Given the description of an element on the screen output the (x, y) to click on. 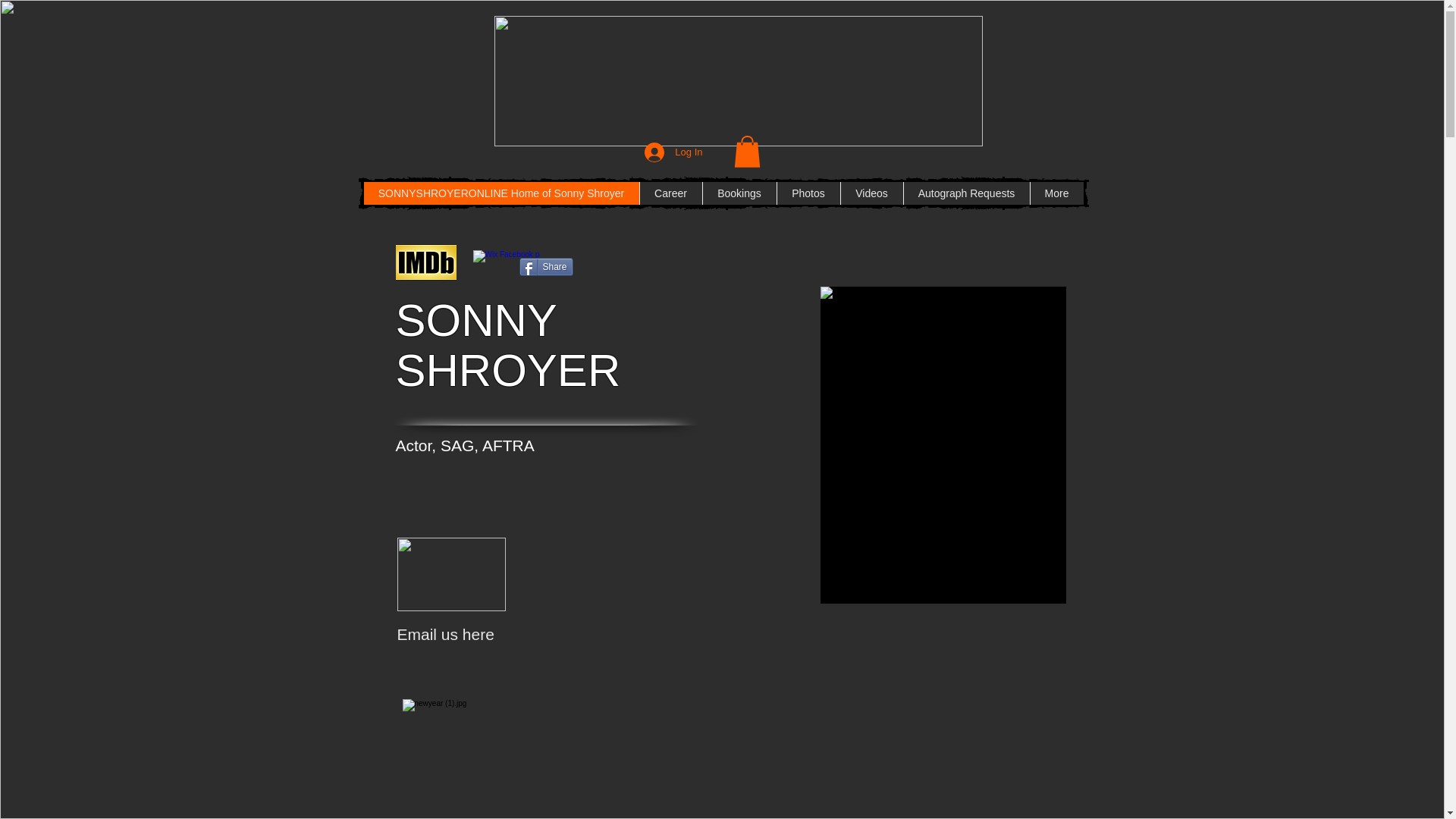
Log In (673, 152)
Career (670, 192)
SONNYSHROYERONLINE Home of Sonny Shroyer (501, 192)
Photos (808, 192)
Autograph Requests (965, 192)
Share (545, 266)
Bookings (738, 192)
Share (545, 266)
Videos (871, 192)
